Given the description of an element on the screen output the (x, y) to click on. 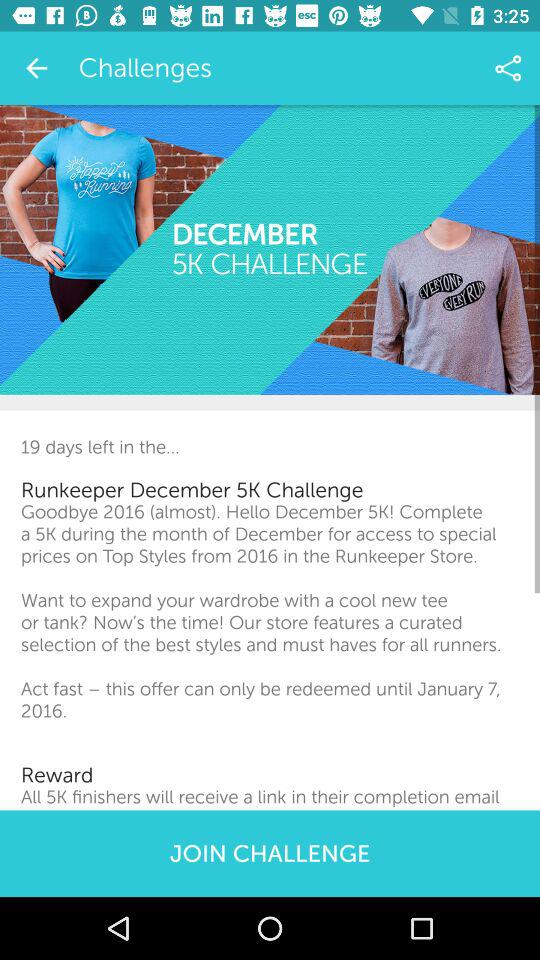
launch the item to the left of challenges item (36, 68)
